Given the description of an element on the screen output the (x, y) to click on. 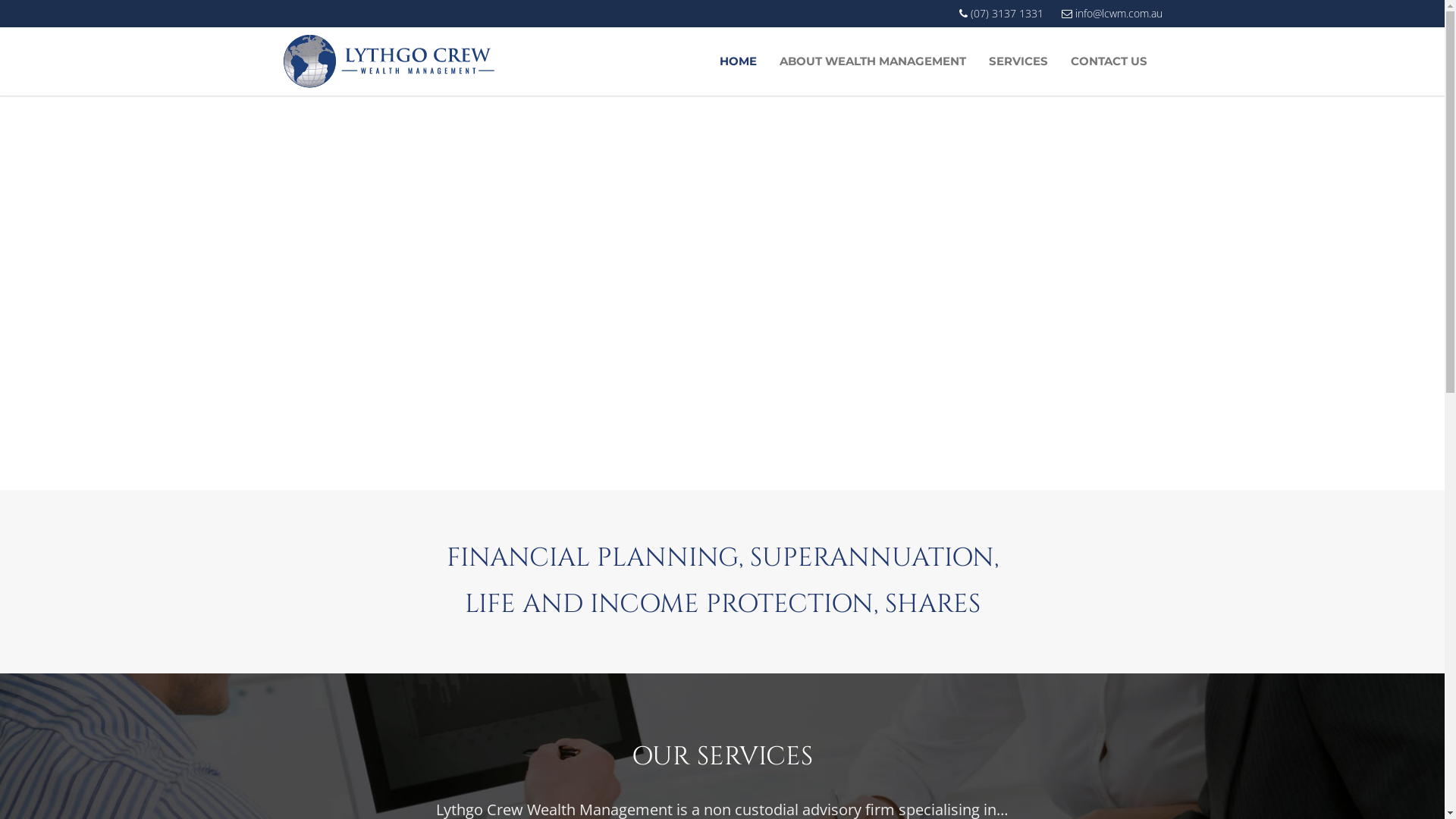
ABOUT WEALTH MANAGEMENT Element type: text (871, 60)
(07) 3137 1331 Element type: text (1000, 13)
SERVICES Element type: text (1017, 60)
CONTACT US Element type: text (1107, 60)
HOME Element type: text (738, 60)
info@lcwm.com.au Element type: text (1111, 13)
